Given the description of an element on the screen output the (x, y) to click on. 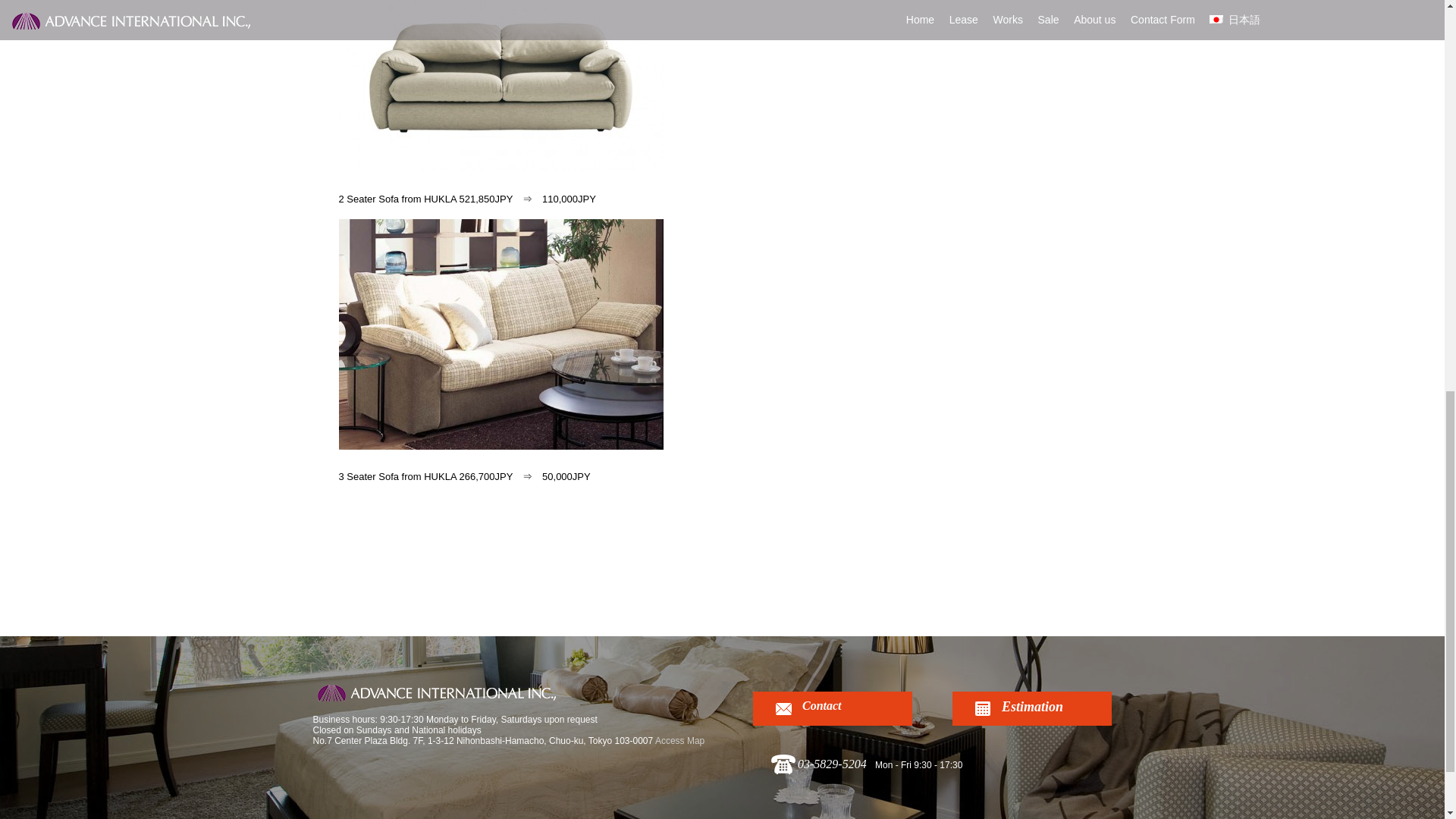
IMAGE2 (499, 85)
IMAGE3 (499, 334)
